Given the description of an element on the screen output the (x, y) to click on. 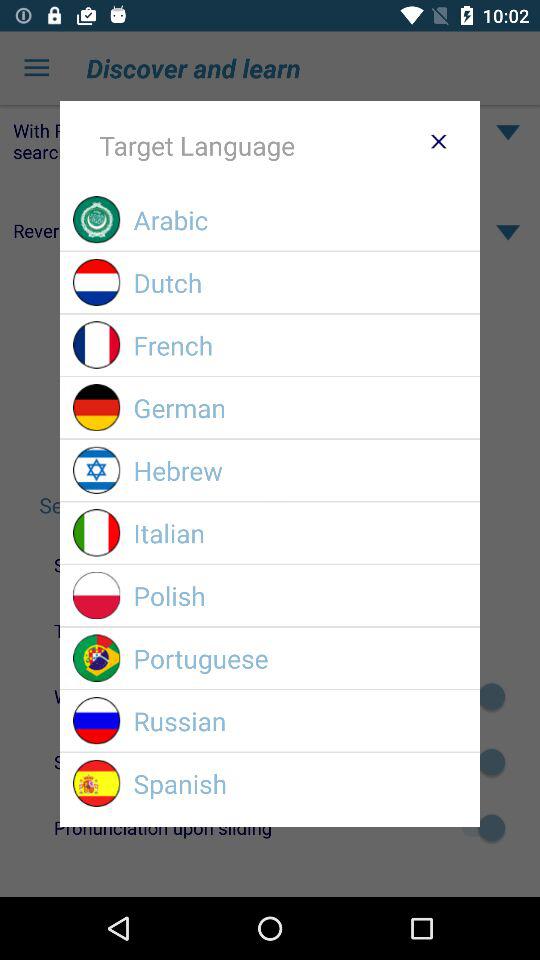
flip to the german icon (300, 407)
